Given the description of an element on the screen output the (x, y) to click on. 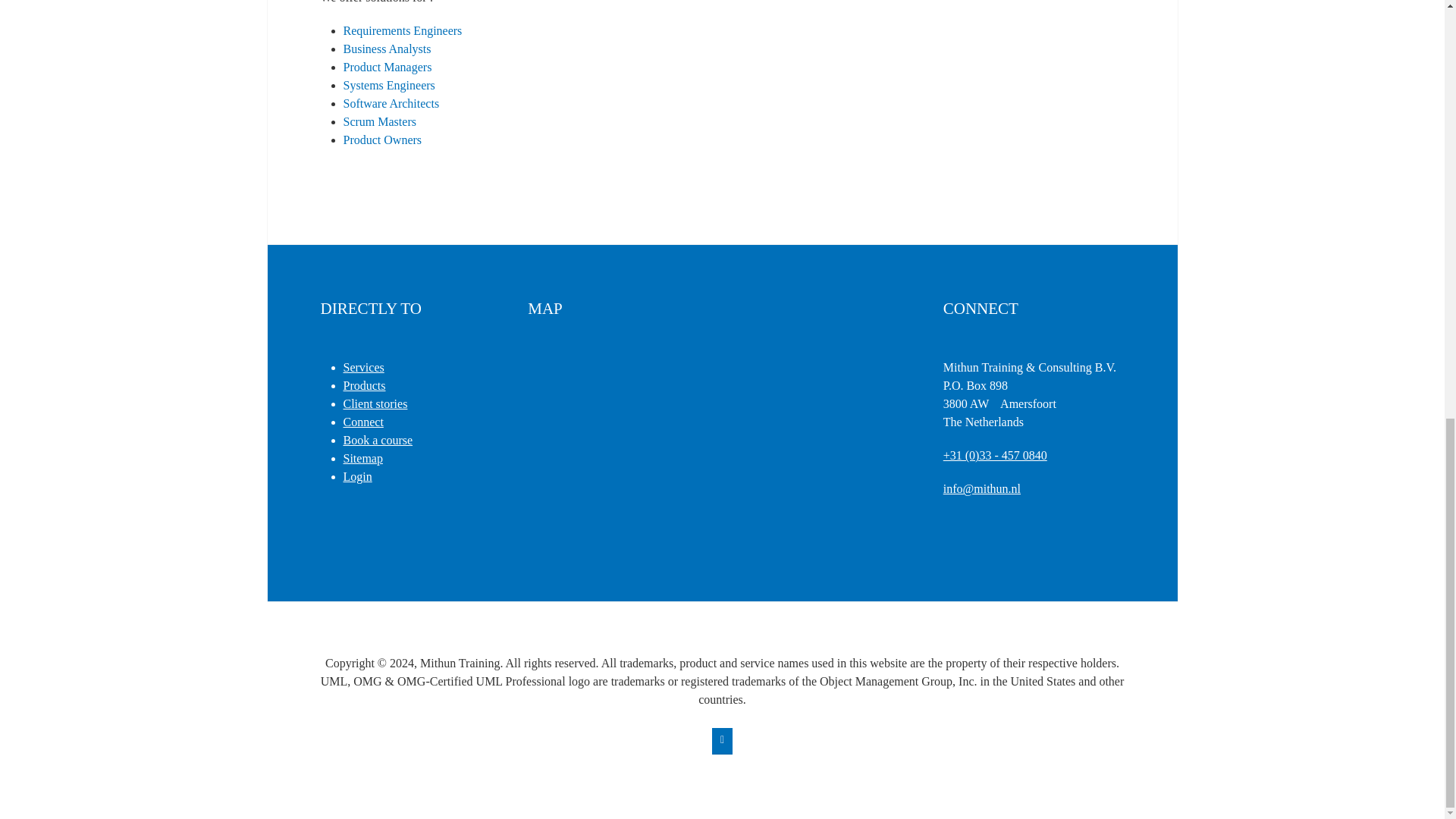
Software Architects (390, 103)
Services (363, 367)
Products (363, 385)
Connect (362, 421)
Systems Engineers (387, 84)
Requirements Engineers (401, 30)
Scrum Masters (378, 121)
Login (356, 476)
Sitemap (361, 458)
Business Analysts (386, 48)
